Given the description of an element on the screen output the (x, y) to click on. 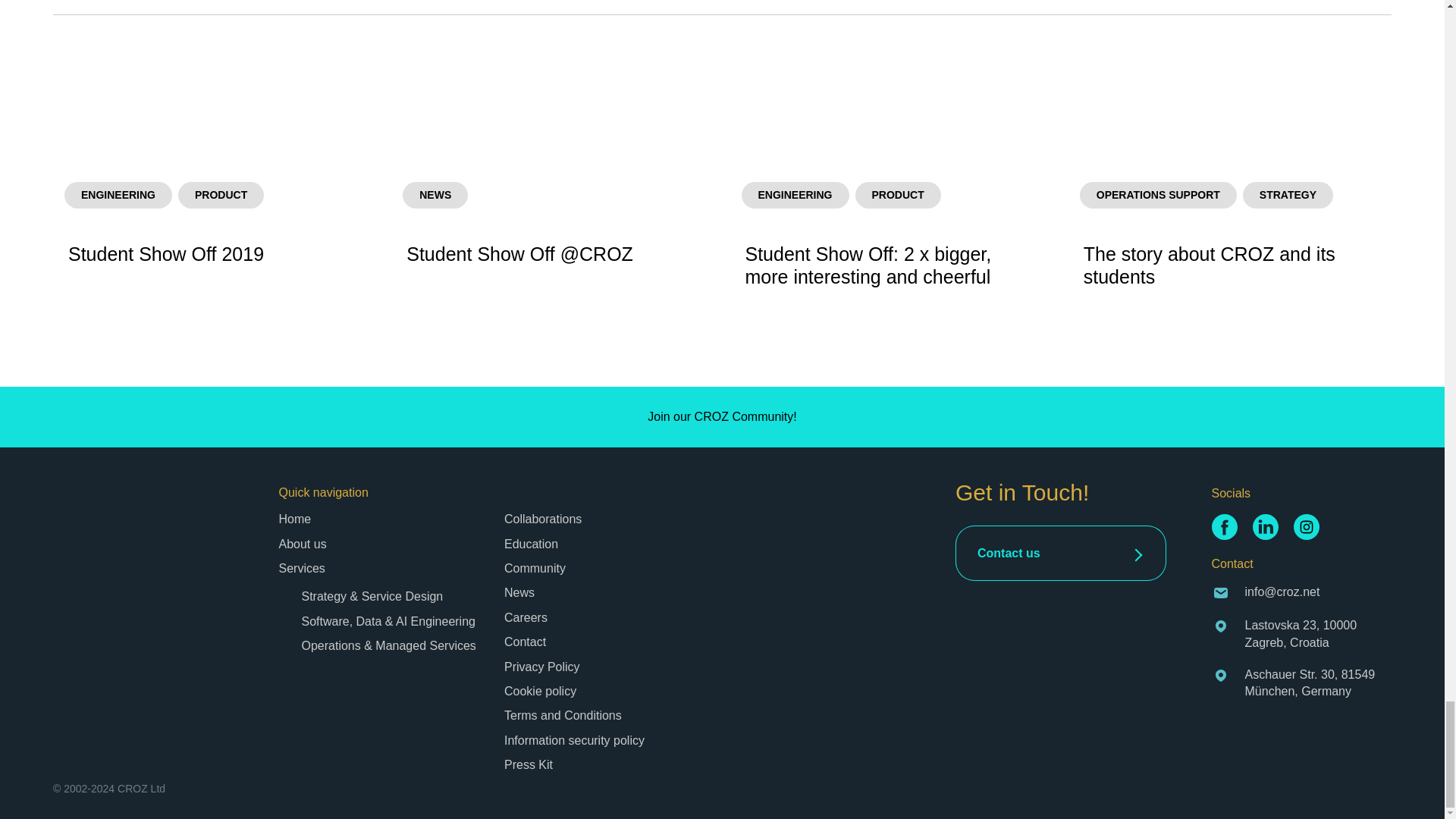
About us (302, 543)
Services (301, 567)
Home (295, 518)
Join our CROZ Community! (721, 417)
